Given the description of an element on the screen output the (x, y) to click on. 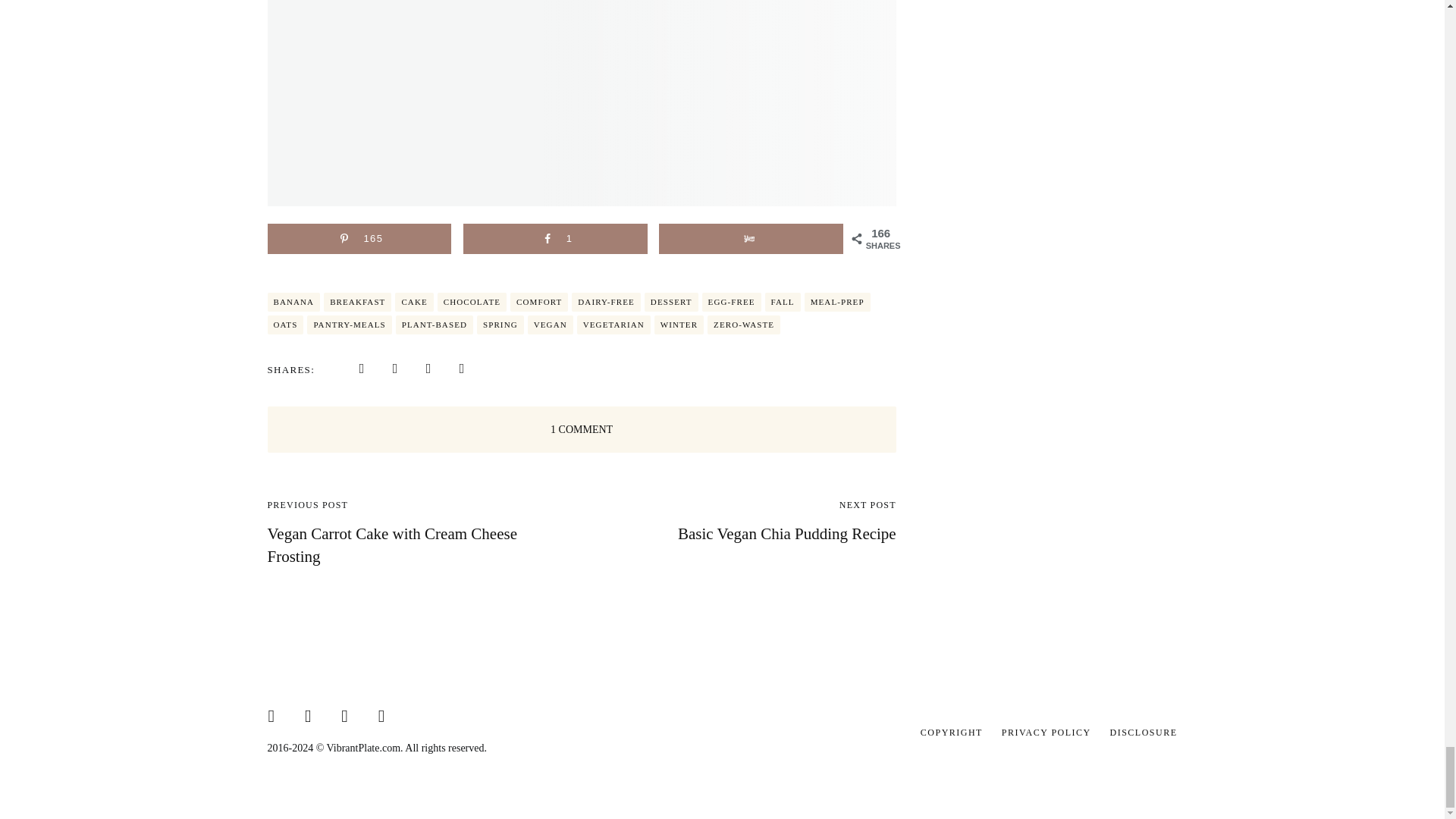
Save to Pinterest (358, 238)
